Given the description of an element on the screen output the (x, y) to click on. 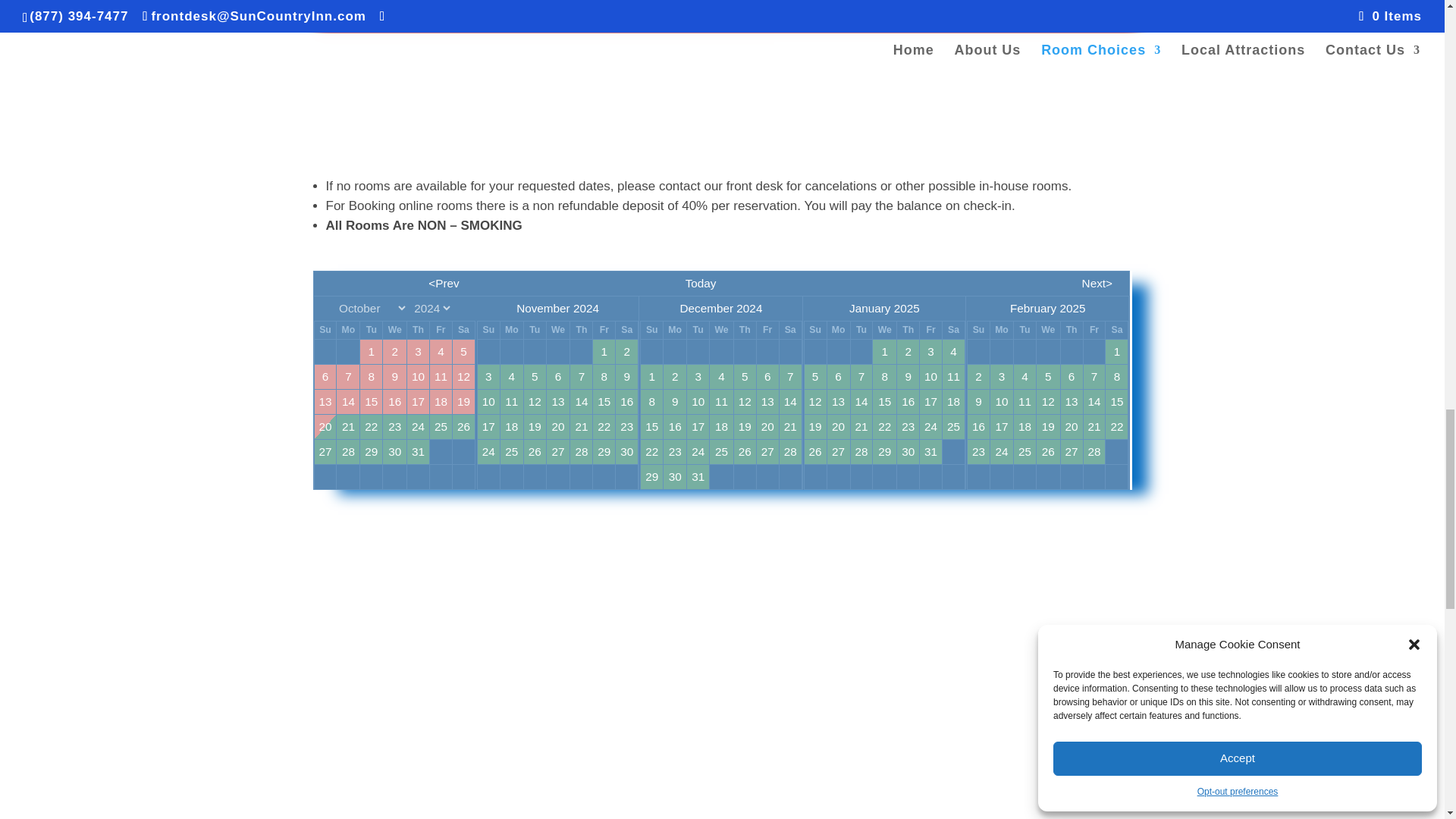
Show the previous month (436, 283)
Wednesday (394, 329)
Monday (347, 329)
Thursday (418, 329)
Change the month (371, 308)
Show today's month (700, 283)
Sunday (325, 329)
Tuesday (370, 329)
Show the next month (1006, 283)
Saturday (463, 329)
Friday (440, 329)
Booked (370, 351)
Change the year (431, 308)
